Given the description of an element on the screen output the (x, y) to click on. 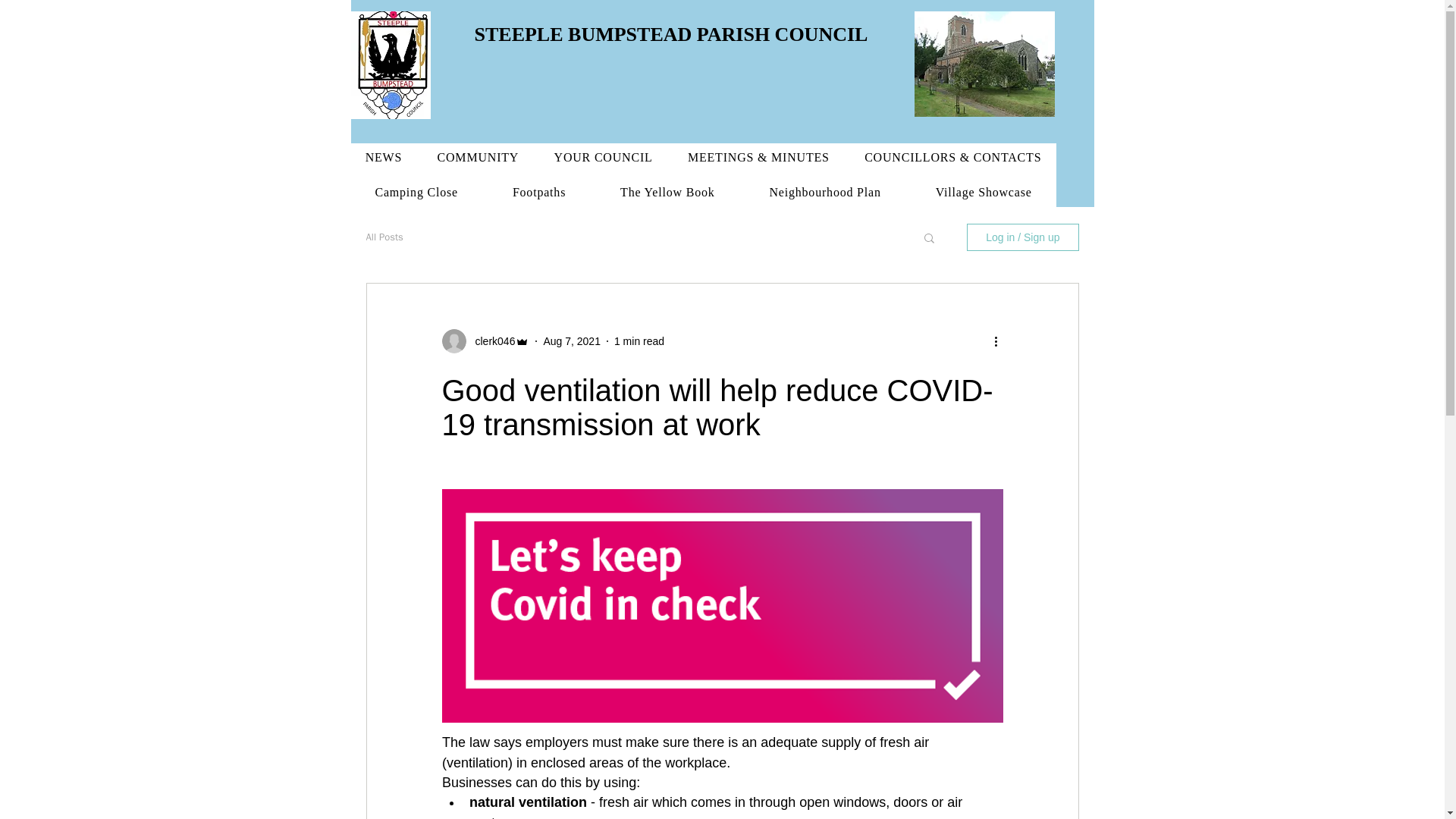
Aug 7, 2021 (571, 340)
The Yellow Book (666, 192)
clerk046 (490, 341)
Neighbourhood Plan (825, 192)
STEEPLE BUMPSTEAD  (585, 34)
YOUR COUNCIL (602, 157)
Village Showcase (984, 192)
1 min read (638, 340)
Camping Close (415, 192)
NEWS (383, 157)
